Given the description of an element on the screen output the (x, y) to click on. 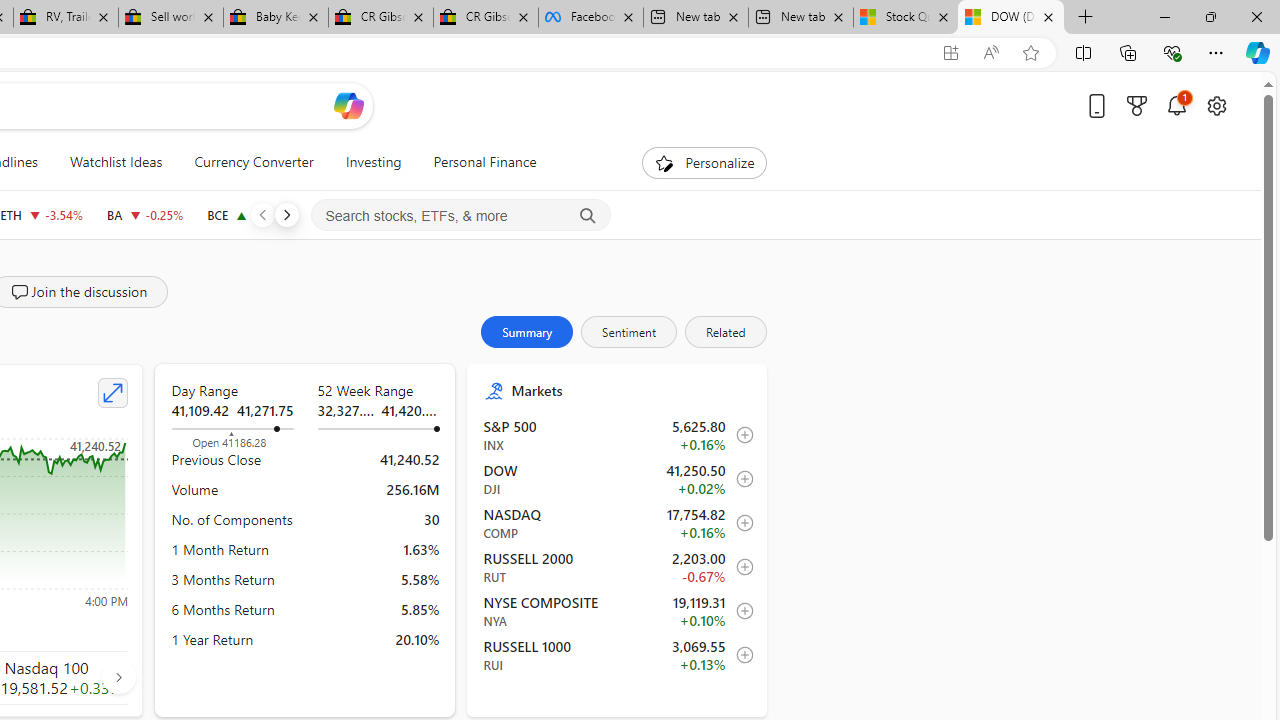
Investing (373, 162)
Sentiment (629, 331)
INX S&P 500 increase 5,625.80 +8.96 +0.16% itemundefined (617, 435)
Facebook (590, 17)
Watchlist Ideas (115, 162)
Investing (373, 162)
Next (286, 214)
RV, Trailer & Camper Steps & Ladders for sale | eBay (65, 17)
Markets (630, 390)
AutomationID: finance_carousel_navi_right (118, 677)
